Given the description of an element on the screen output the (x, y) to click on. 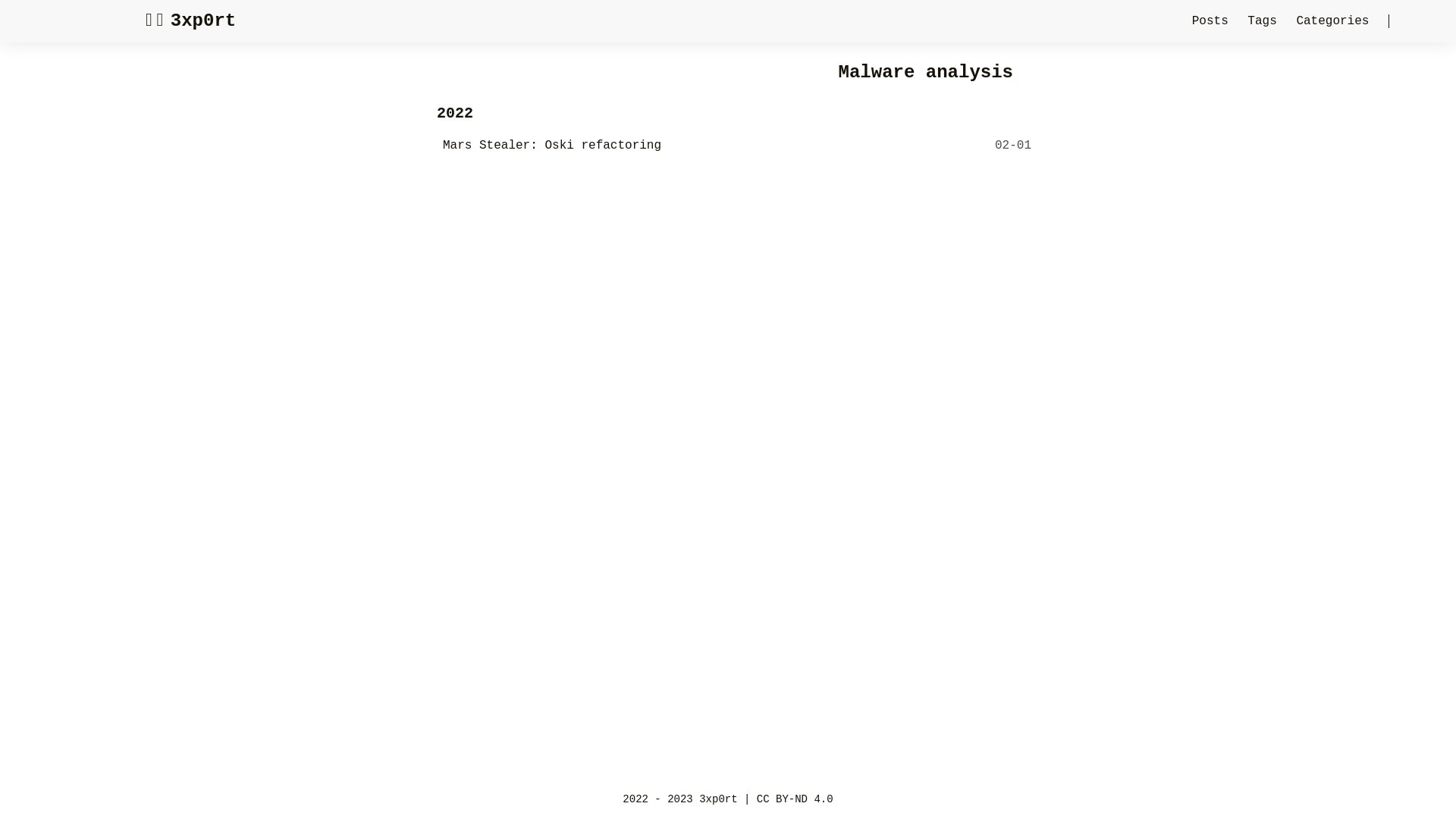
Tags Element type: text (1265, 21)
Mars Stealer: Oski refactoring Element type: text (551, 145)
3xp0rt Element type: text (718, 799)
CC BY-ND 4.0 Element type: text (794, 799)
Categories Element type: text (1335, 21)
Posts Element type: text (1214, 21)
